Given the description of an element on the screen output the (x, y) to click on. 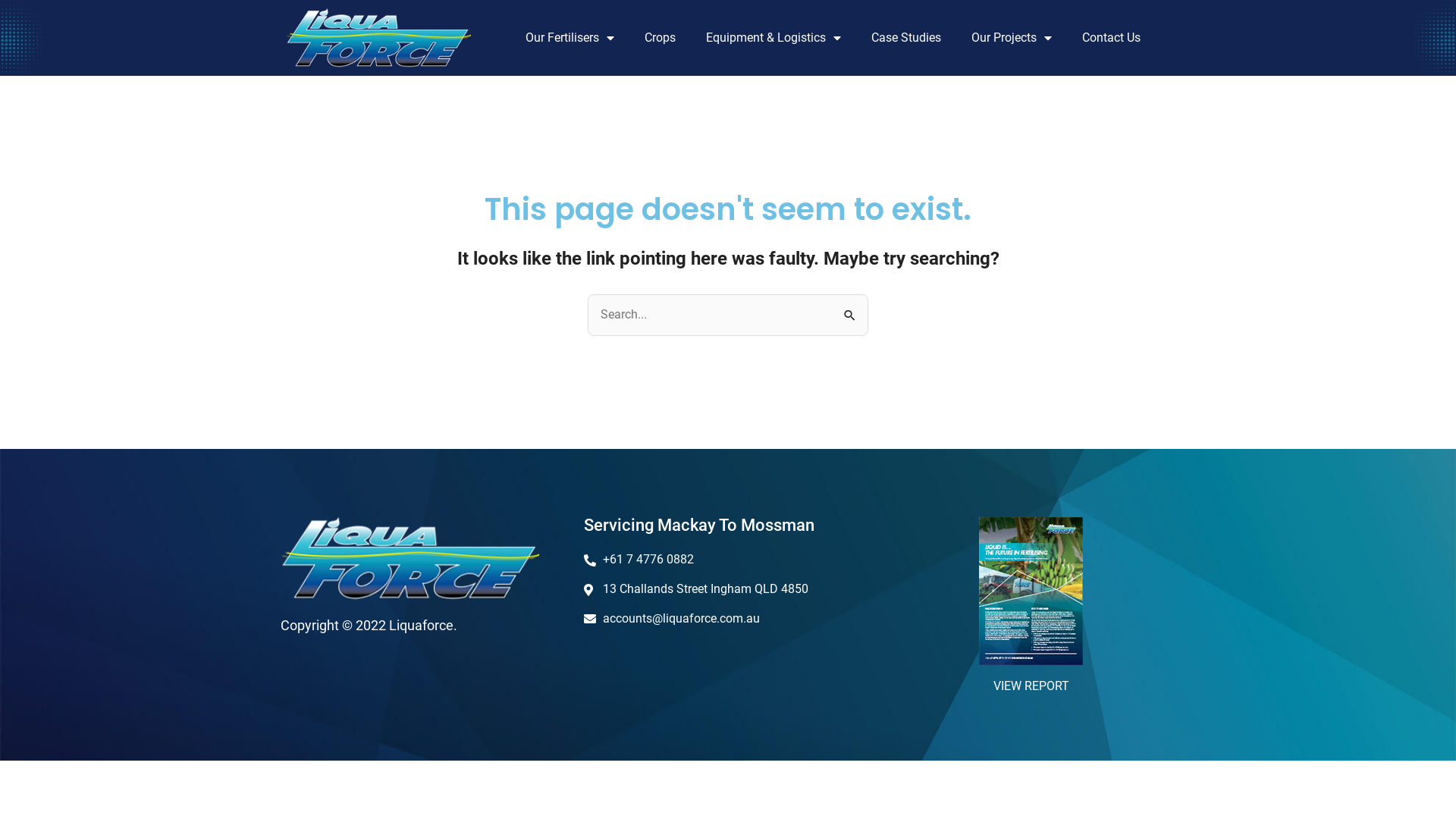
VIEW REPORT Element type: text (1031, 685)
Search Element type: text (851, 309)
Equipment & Logistics Element type: text (773, 37)
Case Studies Element type: text (906, 37)
Contact Us Element type: text (1110, 37)
Our Projects Element type: text (1011, 37)
Crops Element type: text (659, 37)
Our Fertilisers Element type: text (569, 37)
